Given the description of an element on the screen output the (x, y) to click on. 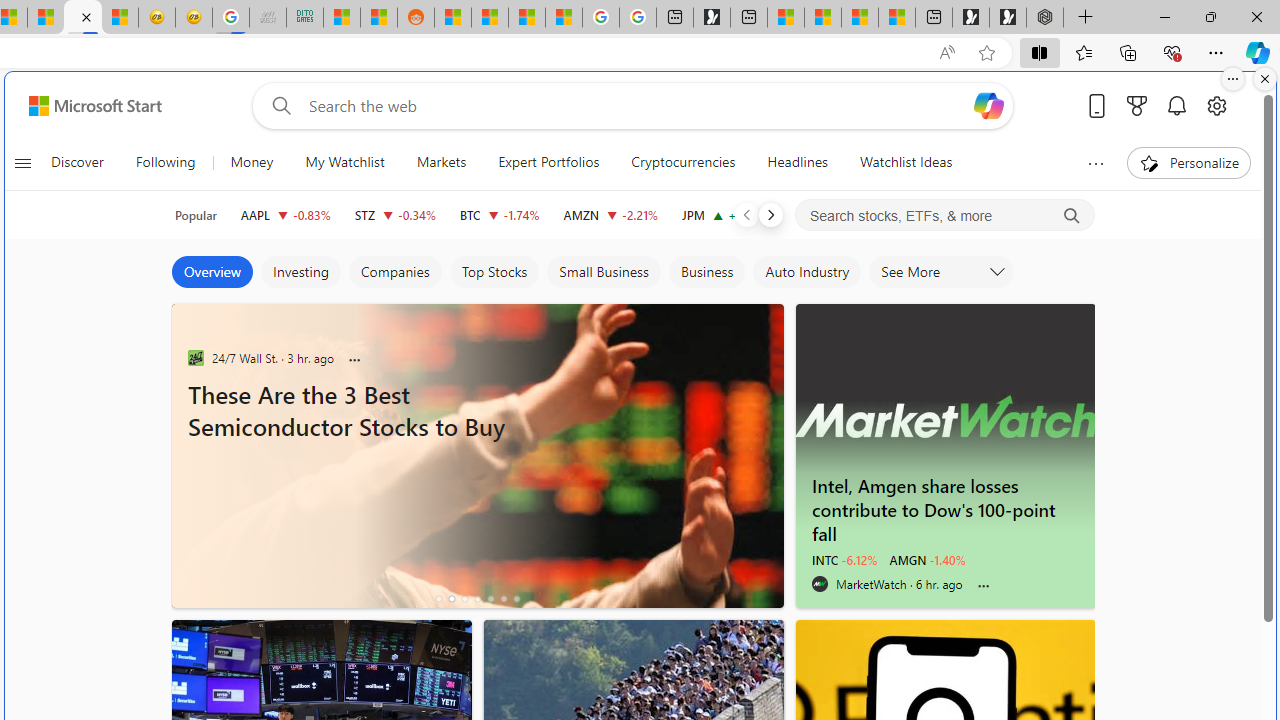
MSN (83, 17)
Expert Portfolios (548, 162)
Watchlist Ideas (905, 162)
AdChoices (767, 314)
My Watchlist (344, 162)
STZ CONSTELLATION BRANDS, INC. decrease 243.92 -0.82 -0.34% (395, 214)
More options. (1233, 79)
